Given the description of an element on the screen output the (x, y) to click on. 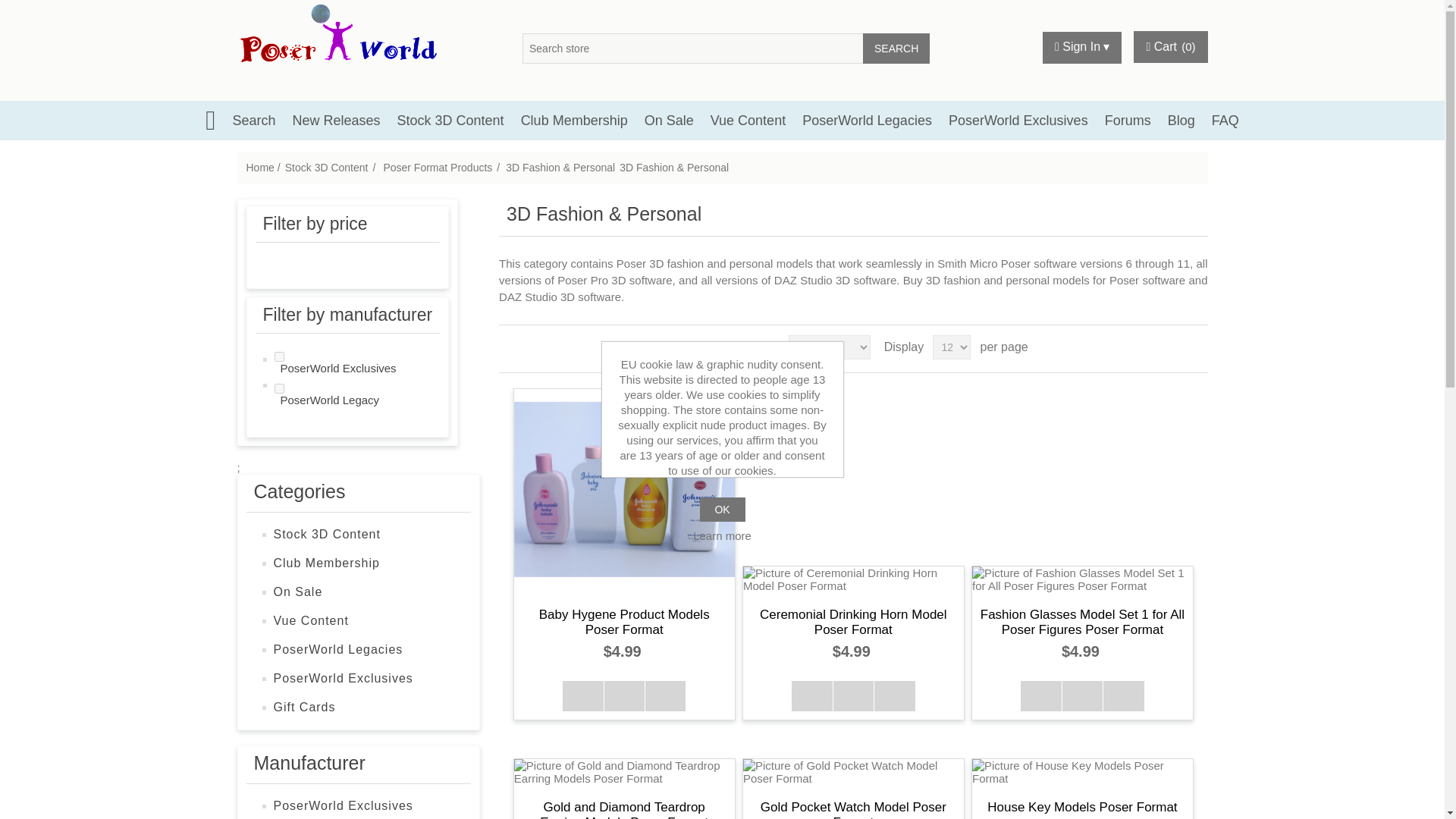
Show details for Baby Hygene Product Models Poser Format (624, 490)
Search (253, 119)
Add to compare list (624, 695)
Add to compare list (852, 695)
Add to wishlist (893, 695)
Show details for Baby Hygene Product Models Poser Format (624, 489)
Show details for Ceremonial Drinking Horn Model Poser Format (852, 579)
Home (259, 167)
Cart (1155, 46)
